Given the description of an element on the screen output the (x, y) to click on. 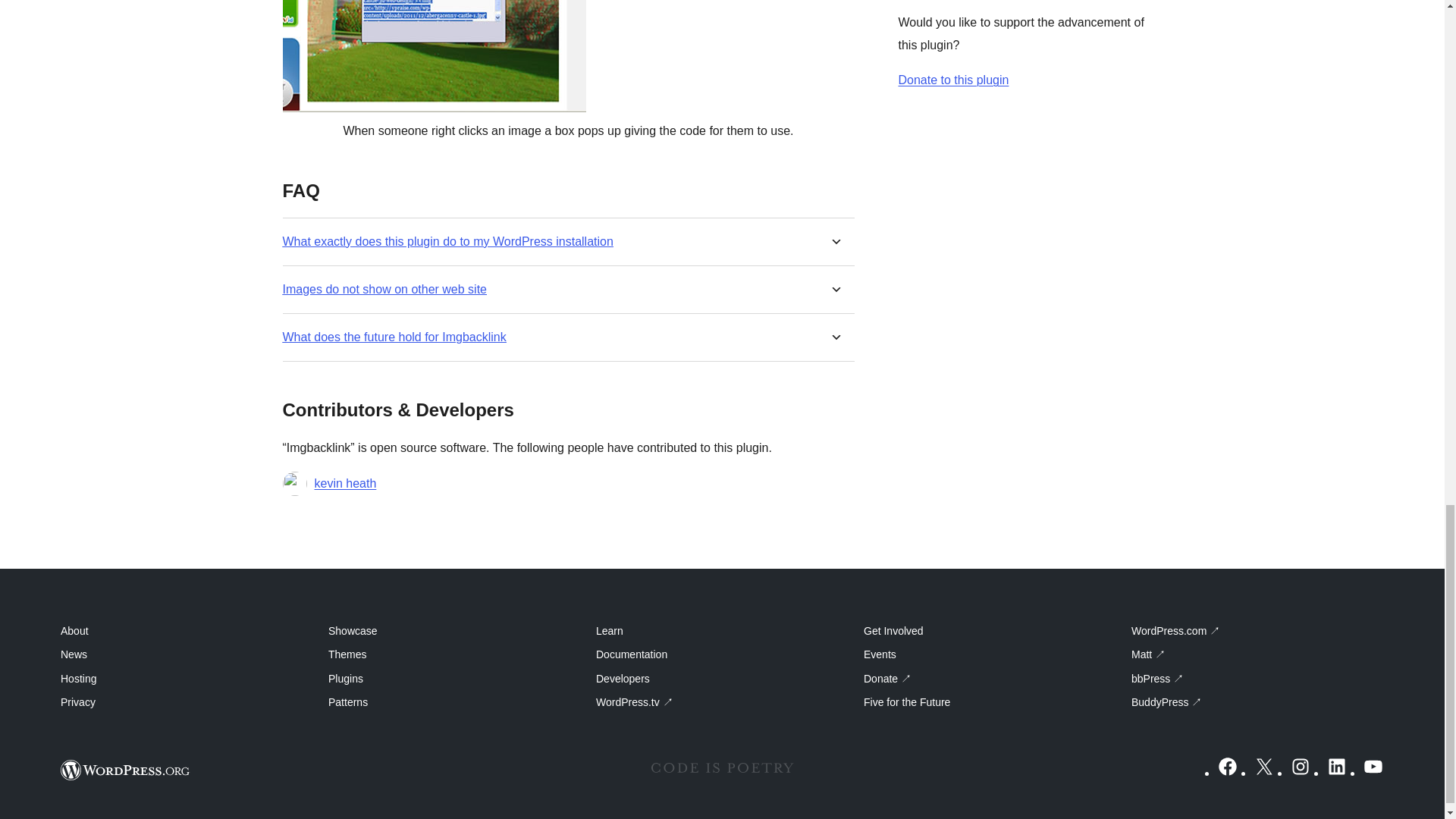
WordPress.org (125, 770)
